Given the description of an element on the screen output the (x, y) to click on. 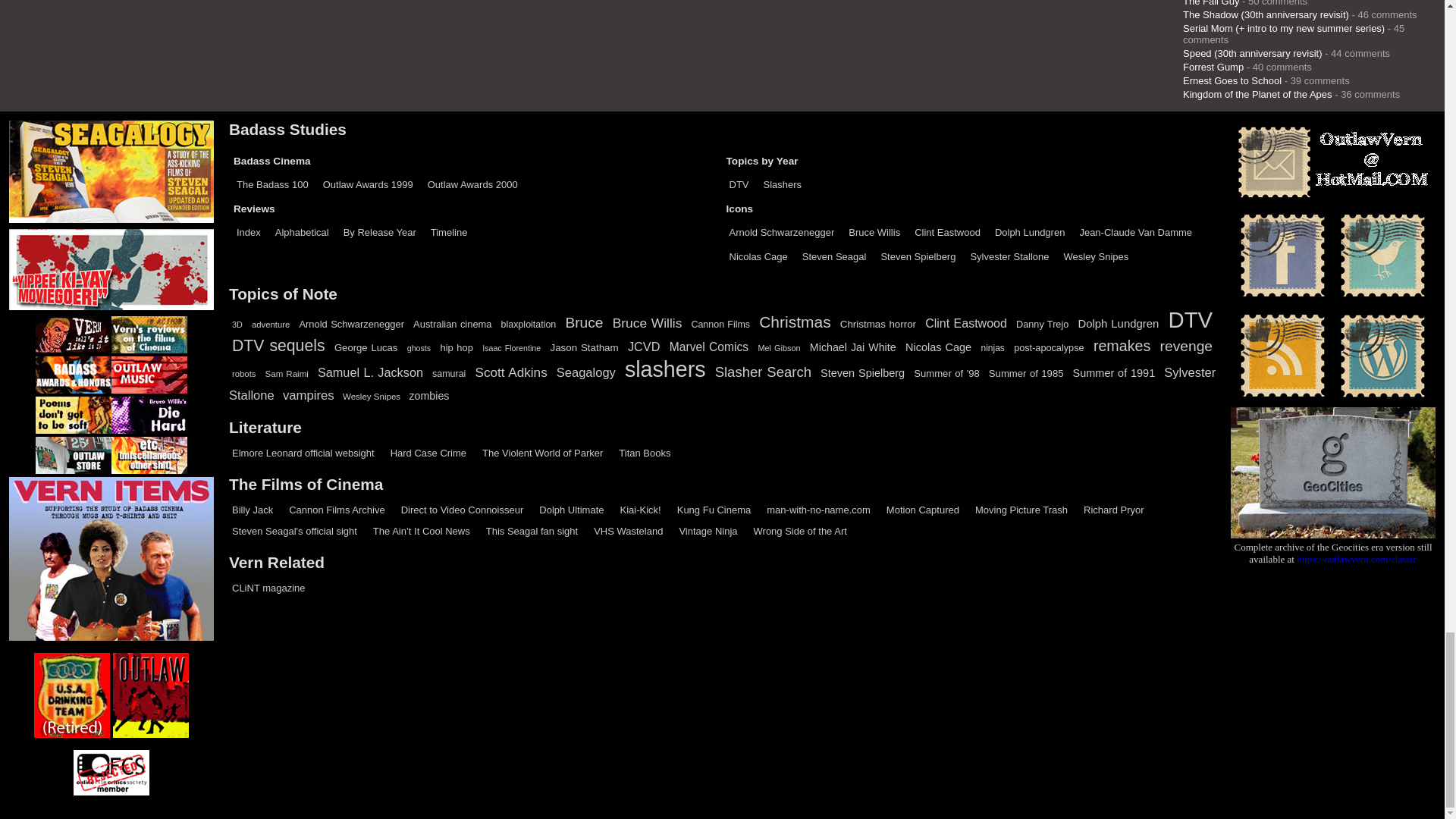
This guy is braver than me in his DTV viewing selections (461, 509)
I think you know who that is (302, 452)
